Given the description of an element on the screen output the (x, y) to click on. 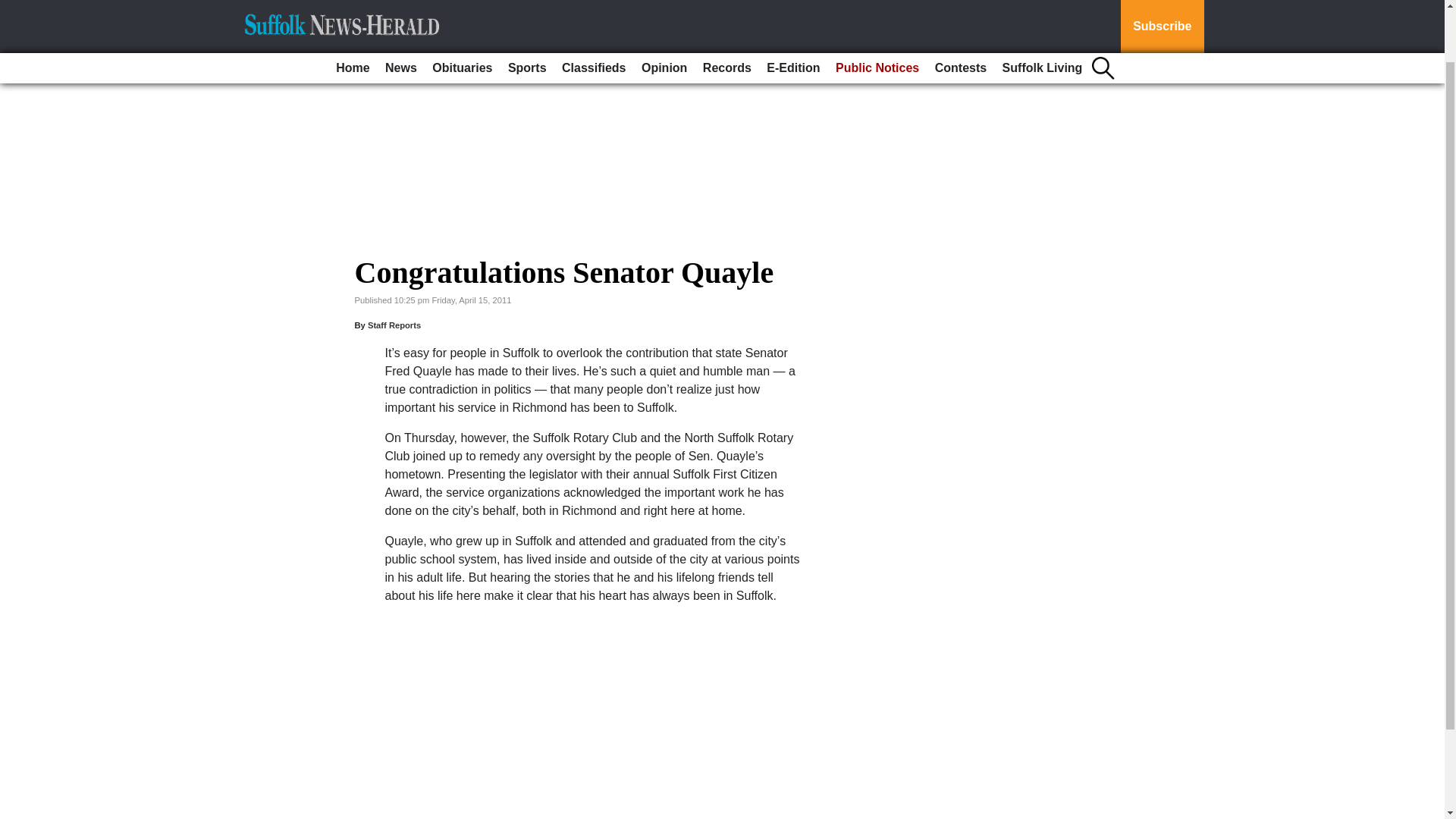
Sports (527, 10)
Home (352, 10)
Suffolk Living (1042, 10)
Records (727, 10)
Public Notices (876, 10)
E-Edition (792, 10)
Staff Reports (394, 325)
Contests (960, 10)
Obituaries (461, 10)
Opinion (663, 10)
Classifieds (593, 10)
News (400, 10)
